Given the description of an element on the screen output the (x, y) to click on. 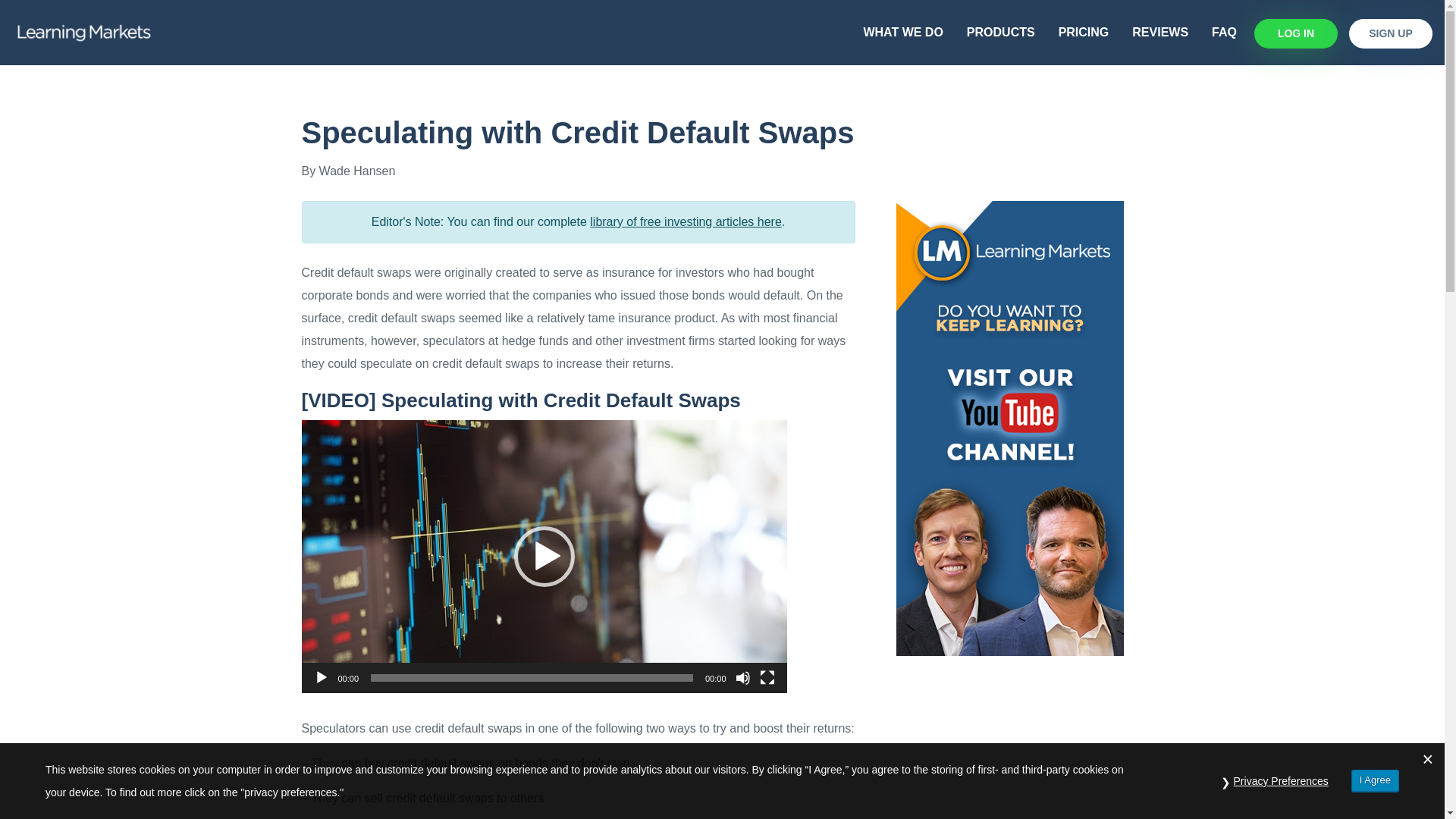
Mute (743, 677)
Fullscreen (767, 677)
Privacy Preferences (1280, 780)
PRICING (1083, 32)
PRODUCTS (1000, 32)
SIGN UP (1390, 33)
I Agree (1375, 780)
REVIEWS (1159, 32)
library of free investing articles here (685, 221)
FAQ (1224, 32)
WHAT WE DO (903, 32)
Play (321, 677)
LOG IN (1295, 33)
